Given the description of an element on the screen output the (x, y) to click on. 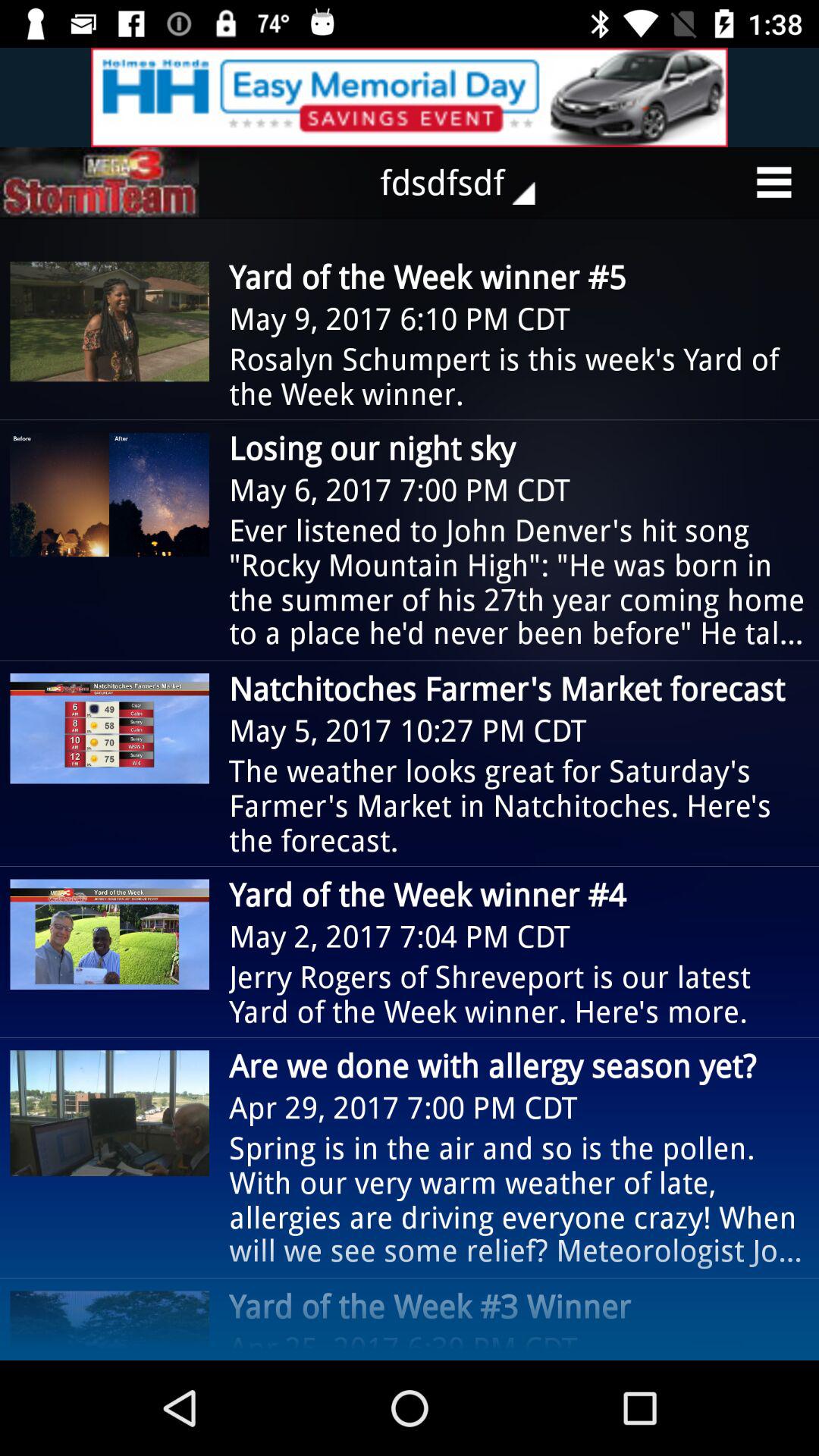
choose this (409, 97)
